Given the description of an element on the screen output the (x, y) to click on. 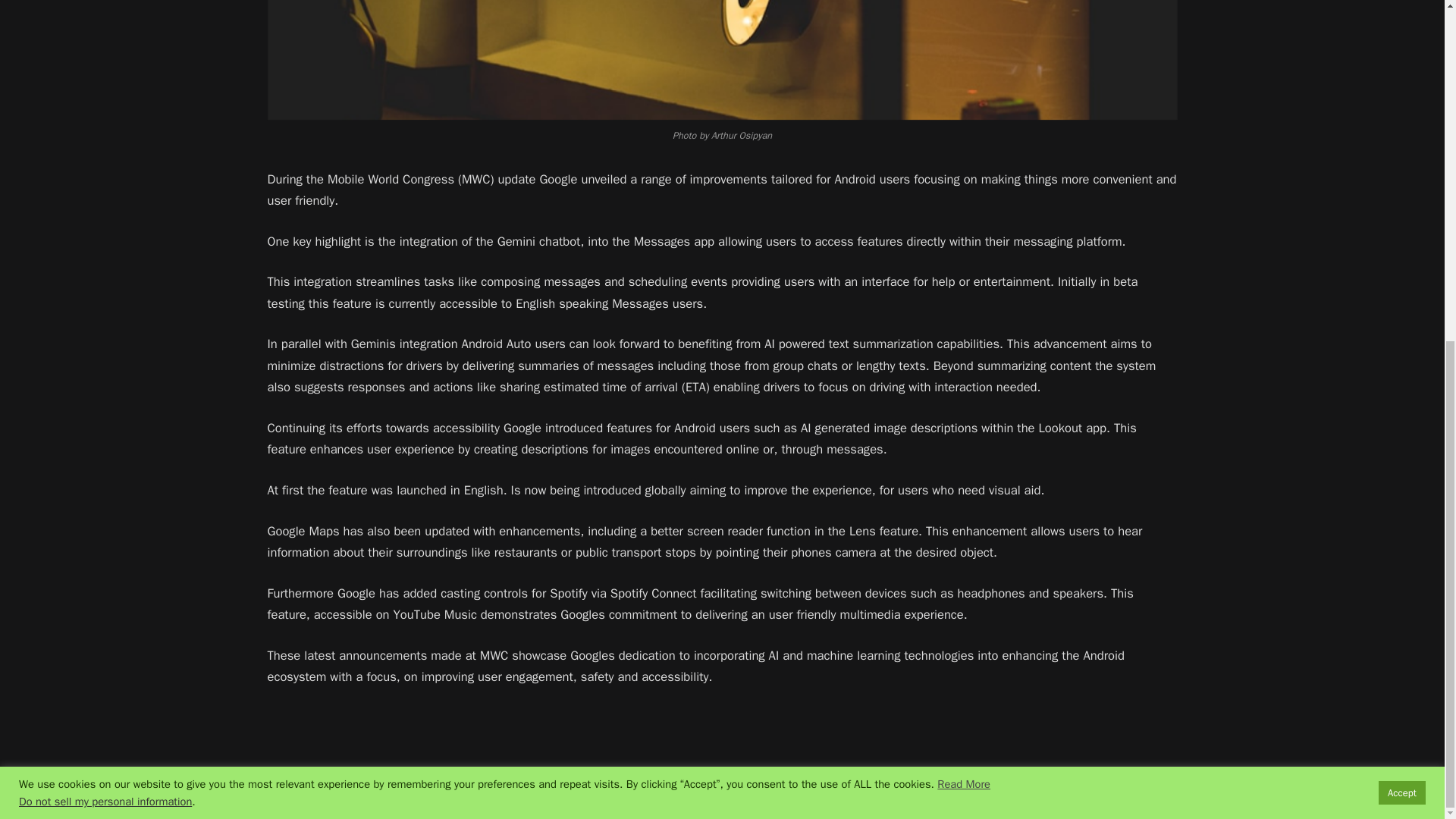
Terms of Service (1140, 792)
Privacy Policy (1058, 792)
Accept (1401, 214)
Do not sell my personal information (105, 223)
Contact (996, 792)
Read More (963, 205)
